Given the description of an element on the screen output the (x, y) to click on. 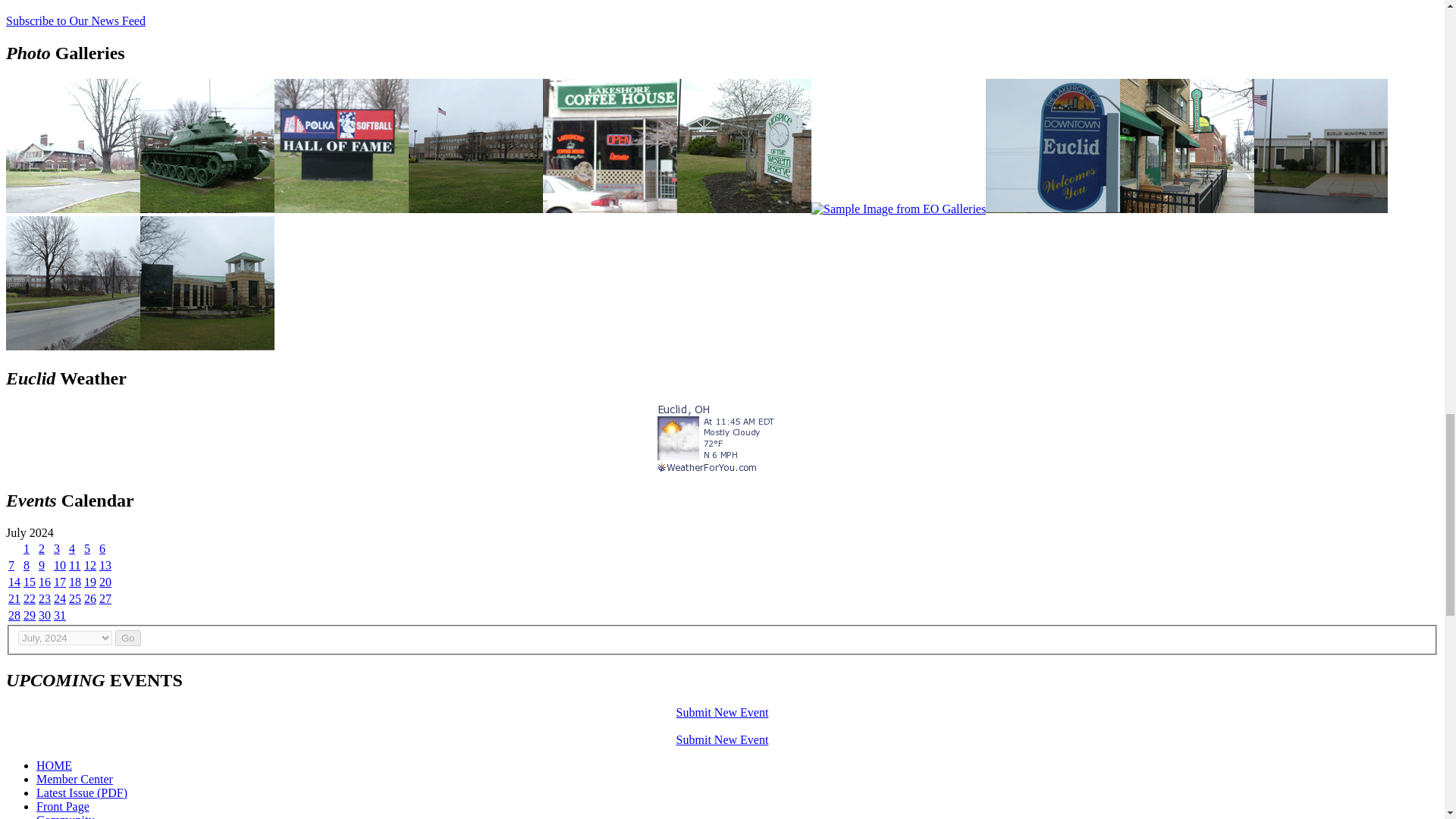
20 (105, 581)
10 (59, 563)
14 (14, 581)
25 (74, 597)
Go (128, 637)
18 (74, 581)
13 (105, 563)
27 (105, 597)
16 (44, 581)
28 (14, 614)
15 (28, 581)
12 (90, 563)
Subscribe to Our News Feed (75, 20)
19 (90, 581)
17 (59, 581)
